Given the description of an element on the screen output the (x, y) to click on. 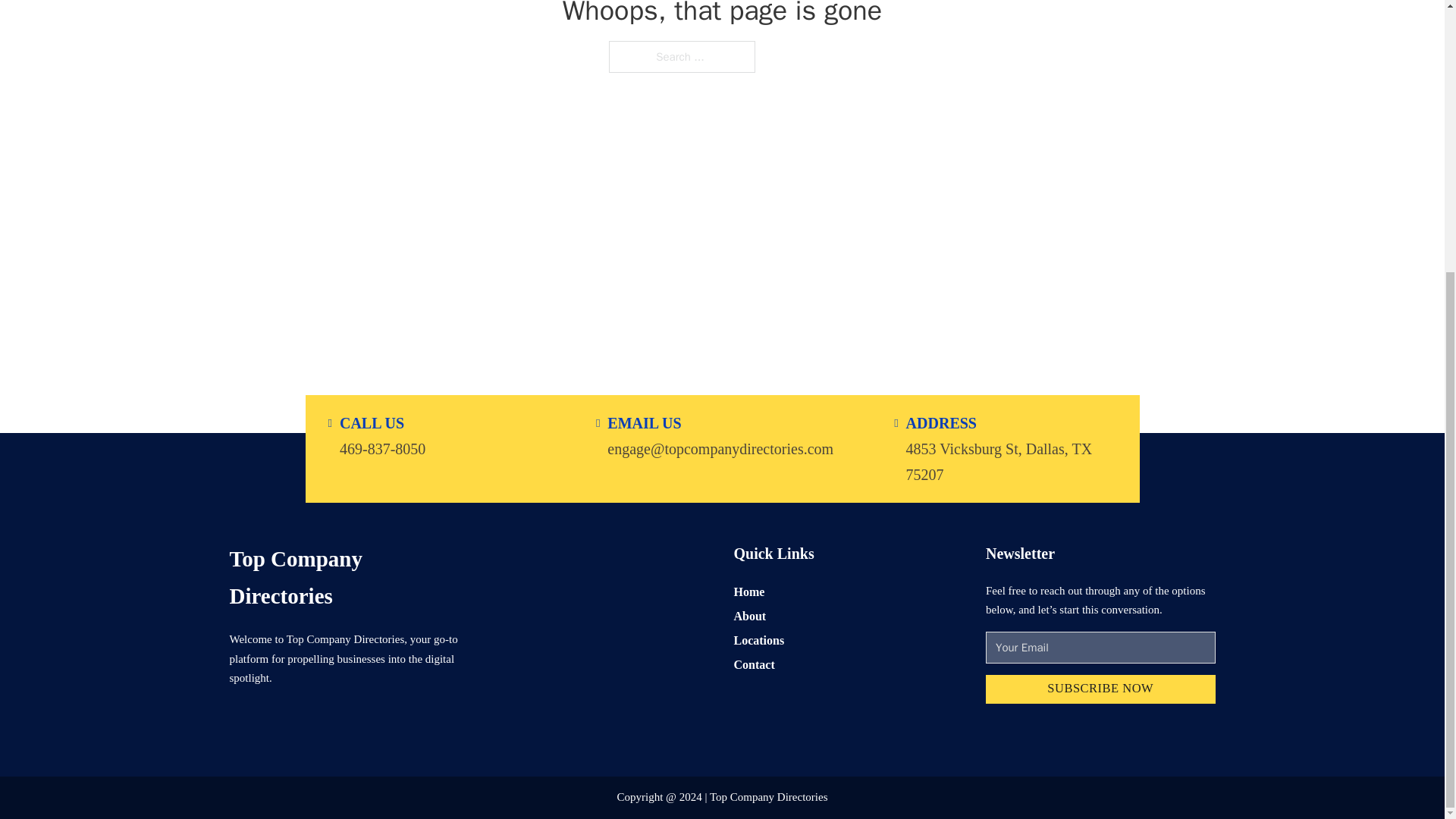
SUBSCRIBE NOW (1100, 689)
469-837-8050 (382, 447)
Top Company Directories (343, 577)
Locations (758, 639)
Home (749, 590)
Contact (753, 664)
About (750, 616)
